Given the description of an element on the screen output the (x, y) to click on. 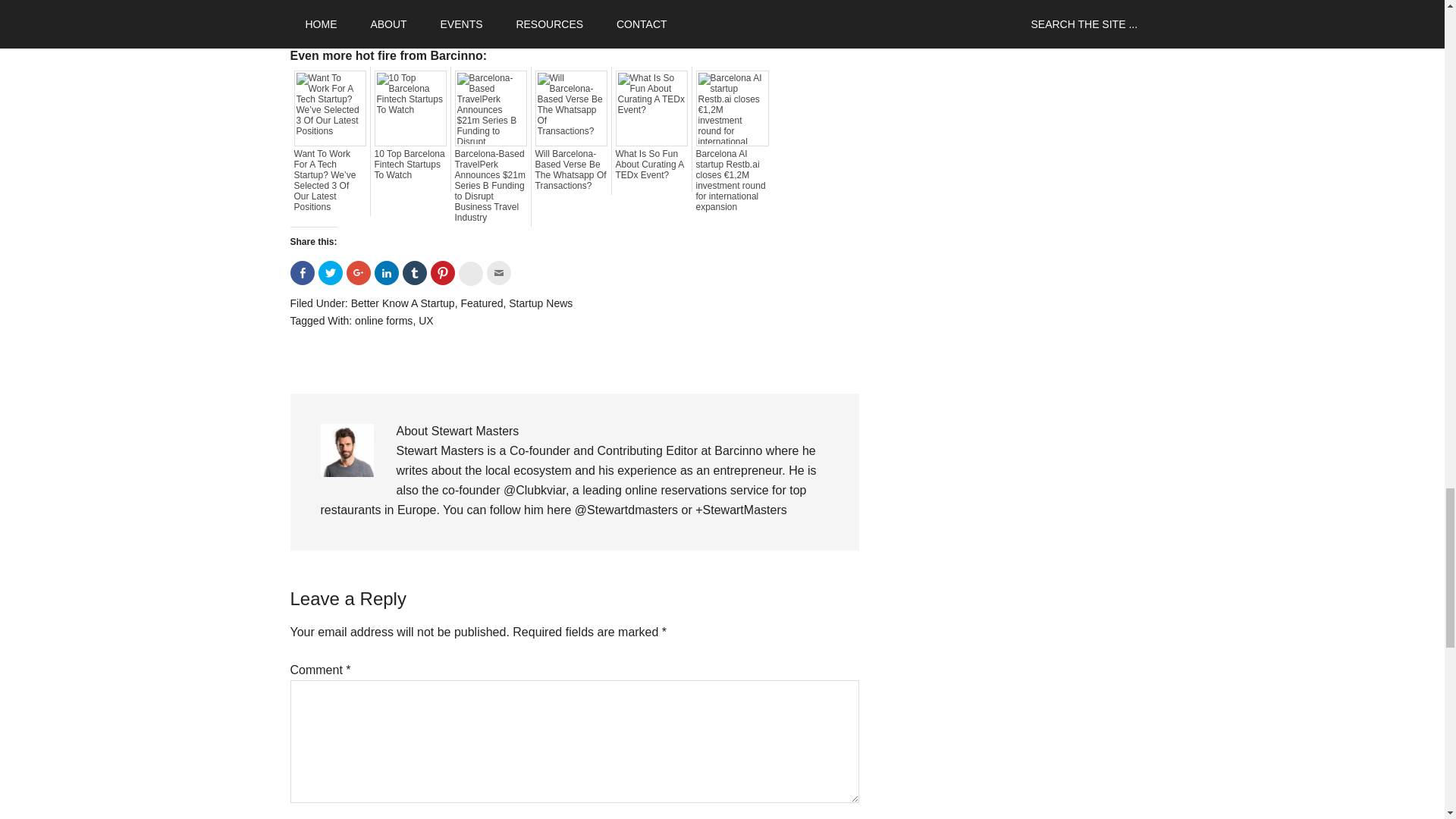
Click to share on Tumblr (413, 273)
Click to share on Buffer (469, 273)
Click to share on Twitter (330, 273)
Click to email this to a friend (498, 273)
Click to share on Facebook (301, 273)
Click to share on Pinterest (442, 273)
Click to share on LinkedIn (386, 273)
